Given the description of an element on the screen output the (x, y) to click on. 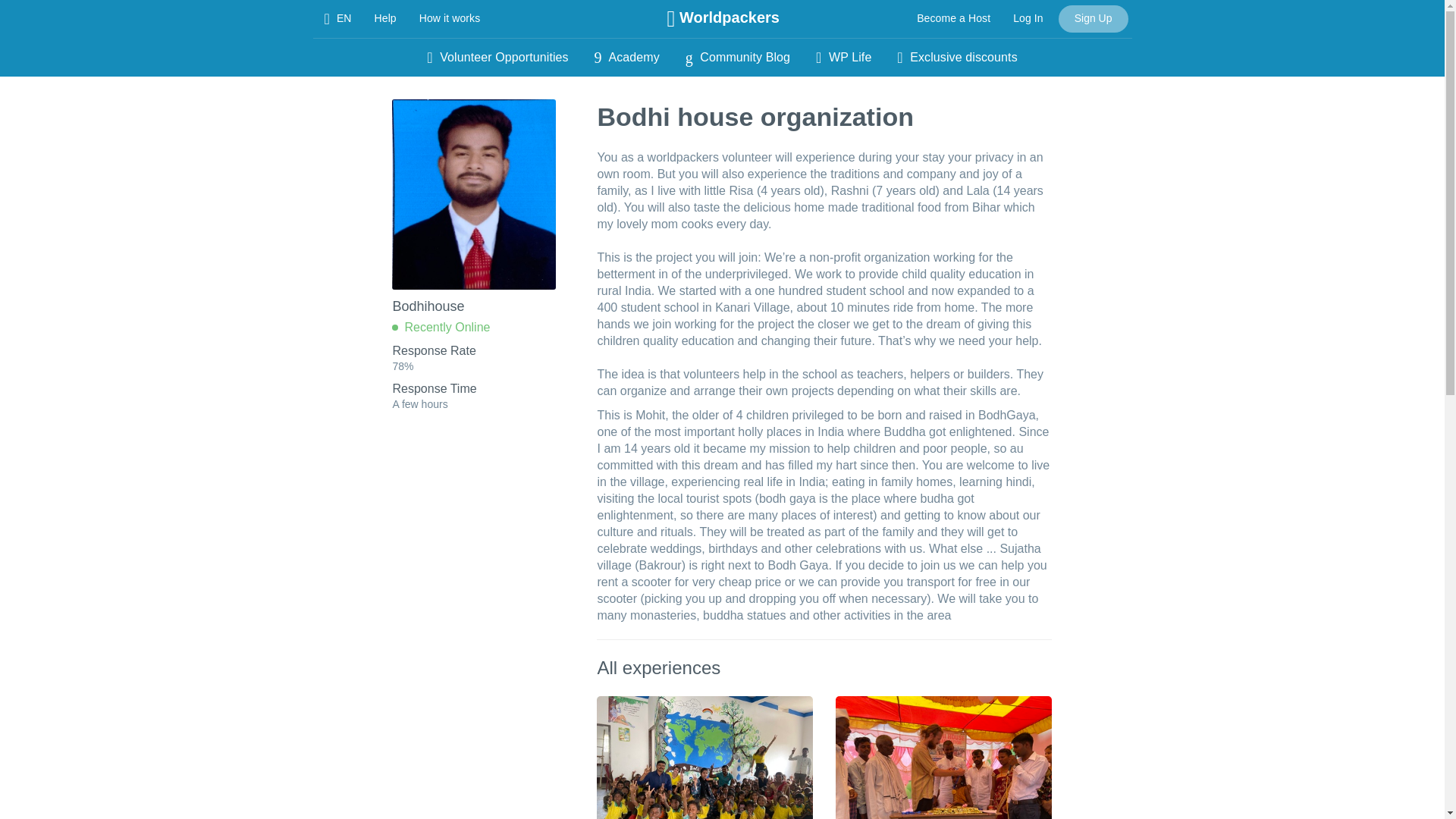
Volunteer Opportunities (496, 57)
Log In (1027, 18)
Help (384, 18)
How it works (449, 18)
EN (337, 18)
Become a Host (953, 18)
Sign Up (1093, 18)
Worldpackers (723, 18)
